Given the description of an element on the screen output the (x, y) to click on. 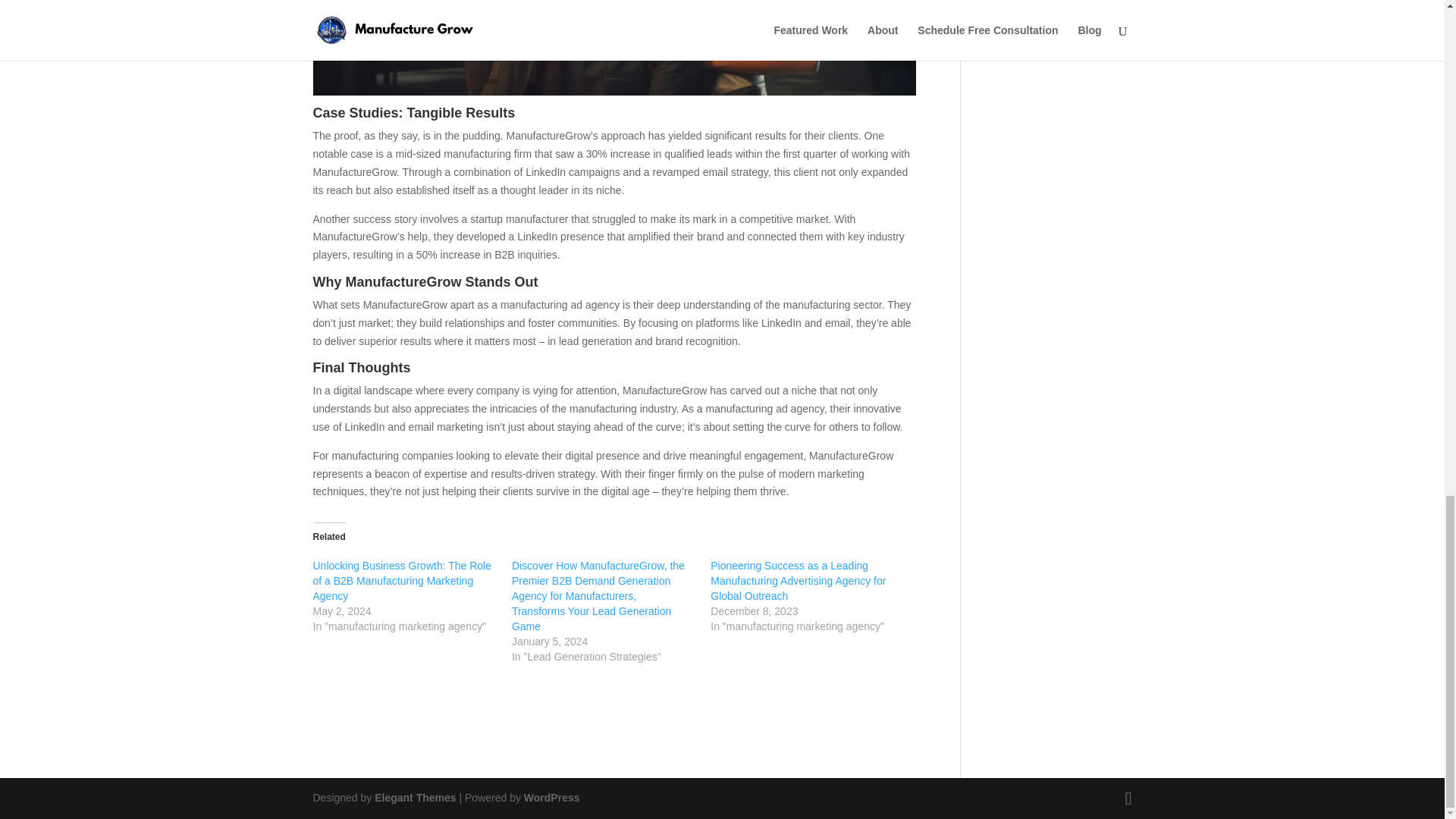
Elegant Themes (414, 797)
WordPress (551, 797)
Premium WordPress Themes (414, 797)
